Given the description of an element on the screen output the (x, y) to click on. 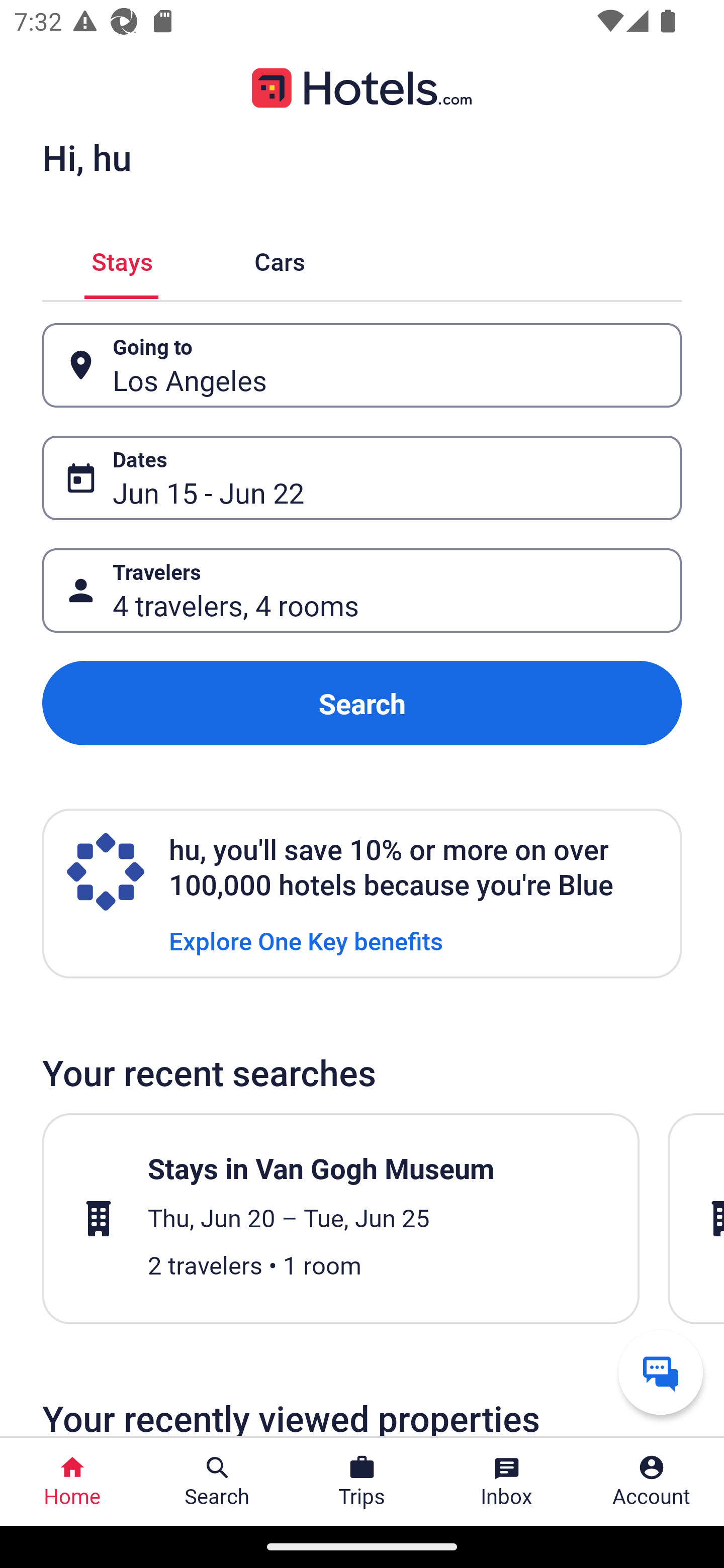
Hi, hu (86, 156)
Cars (279, 259)
Going to Button Los Angeles (361, 365)
Dates Button Jun 15 - Jun 22 (361, 477)
Travelers Button 4 travelers, 4 rooms (361, 590)
Search (361, 702)
Get help from a virtual agent (660, 1371)
Search Search Button (216, 1481)
Trips Trips Button (361, 1481)
Inbox Inbox Button (506, 1481)
Account Profile. Button (651, 1481)
